Given the description of an element on the screen output the (x, y) to click on. 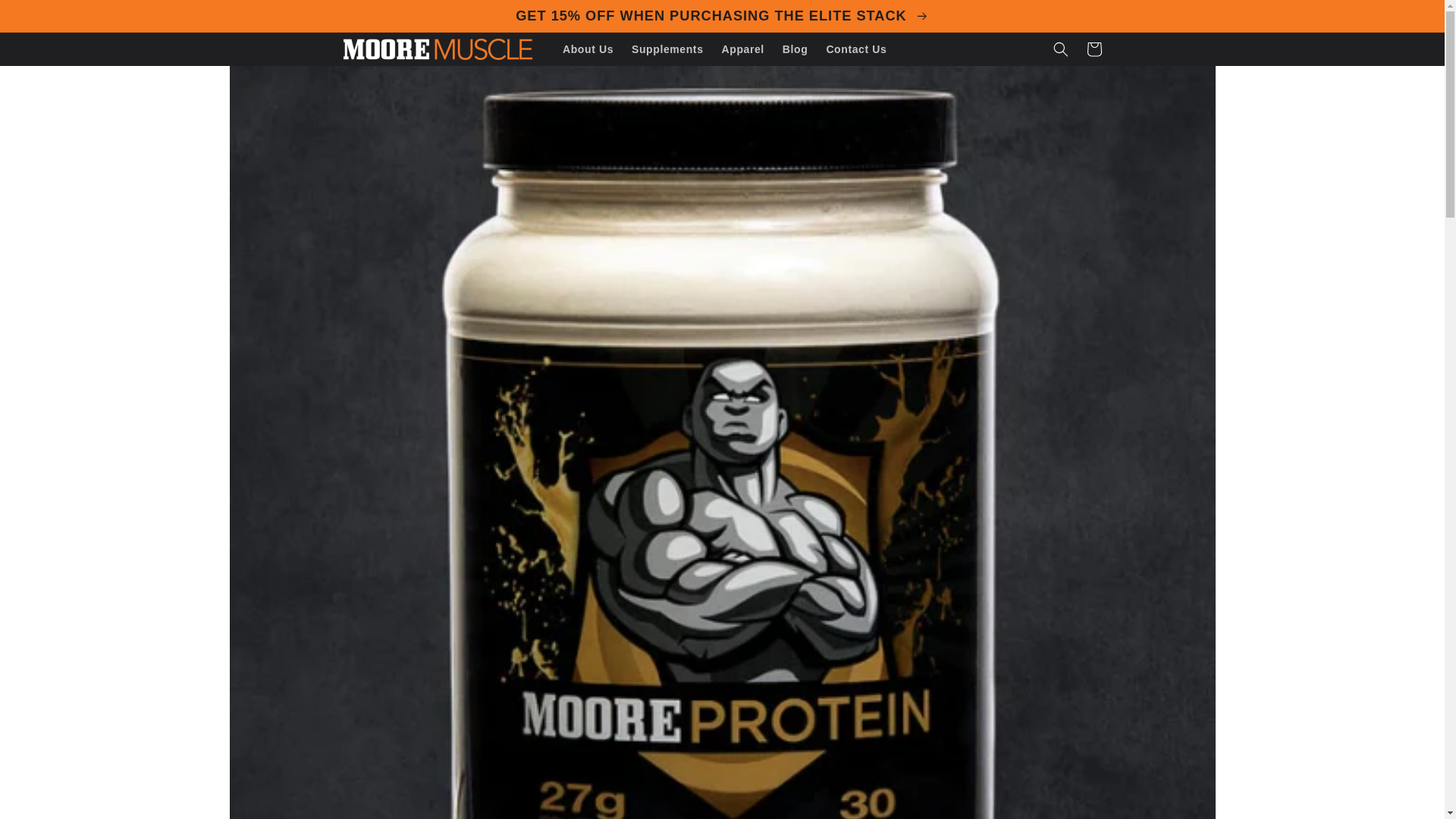
Skip to content (45, 17)
About Us (588, 49)
Cart (1093, 49)
Supplements (668, 49)
Apparel (743, 49)
Blog (794, 49)
Contact Us (855, 49)
